Given the description of an element on the screen output the (x, y) to click on. 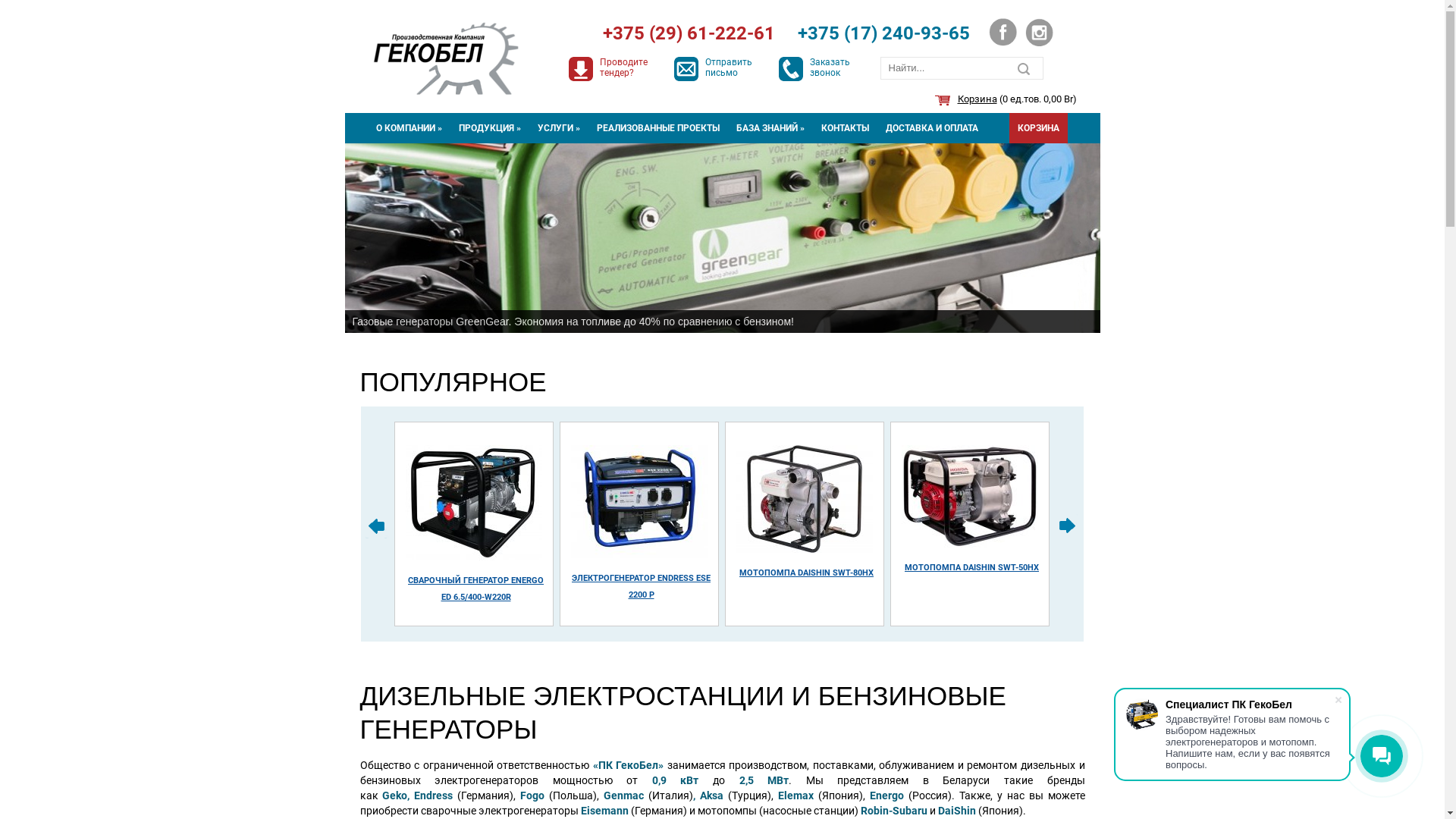
+375 (17) 240-93-65 Element type: text (882, 35)
Instagram Element type: hover (1039, 31)
Facebook Element type: hover (1002, 31)
+375 (29) 61-222-61 Element type: text (688, 35)
